Given the description of an element on the screen output the (x, y) to click on. 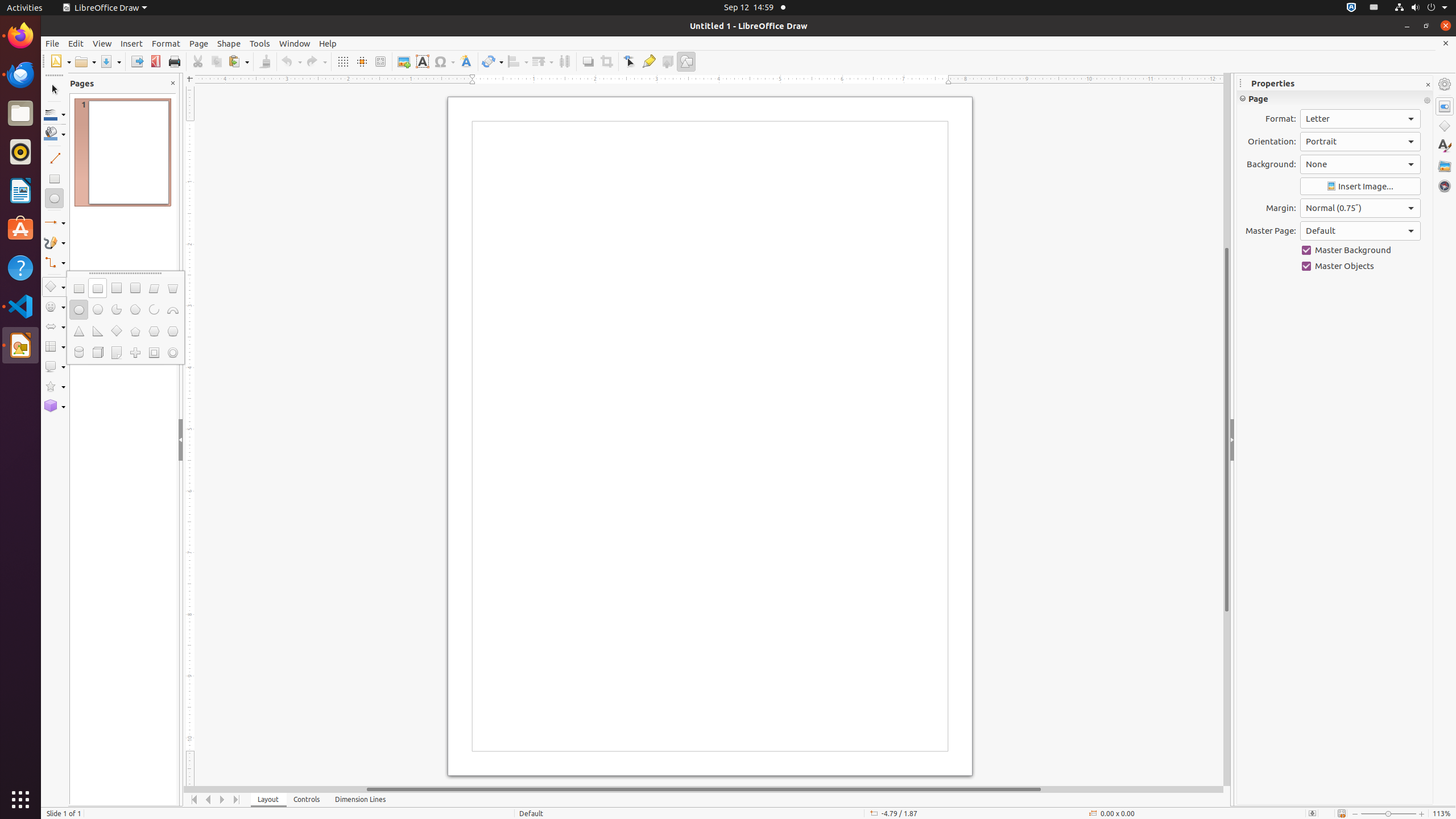
Undo Element type: push-button (290, 61)
Close Pane Element type: push-button (172, 82)
Paste Element type: push-button (237, 61)
Edit Element type: menu (75, 43)
LibreOffice Draw Element type: menu (103, 7)
